Given the description of an element on the screen output the (x, y) to click on. 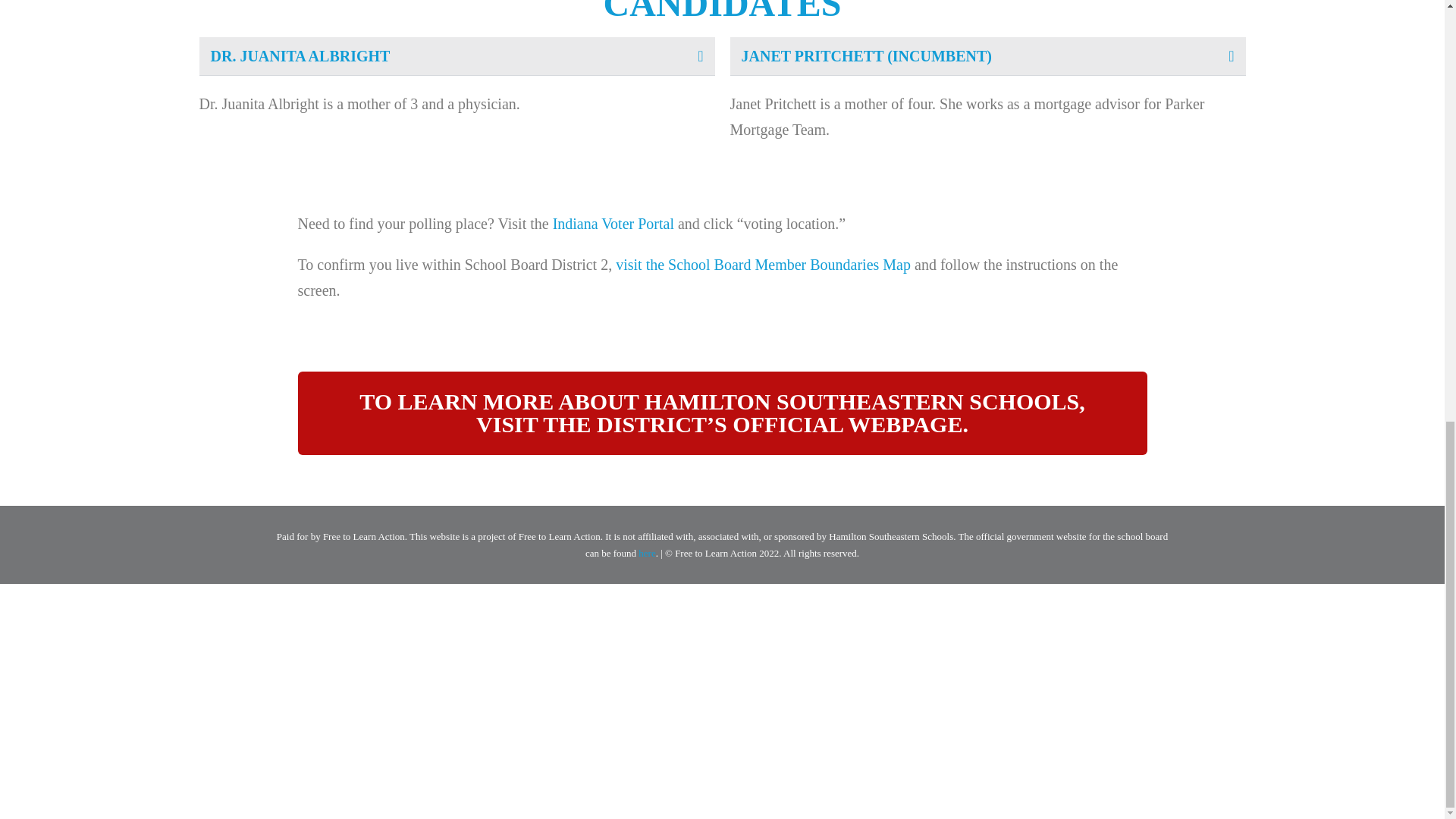
DR. JUANITA ALBRIGHT (300, 55)
here (647, 552)
visit the School Board Member Boundaries Map (763, 264)
Indiana Voter Portal (613, 223)
